Given the description of an element on the screen output the (x, y) to click on. 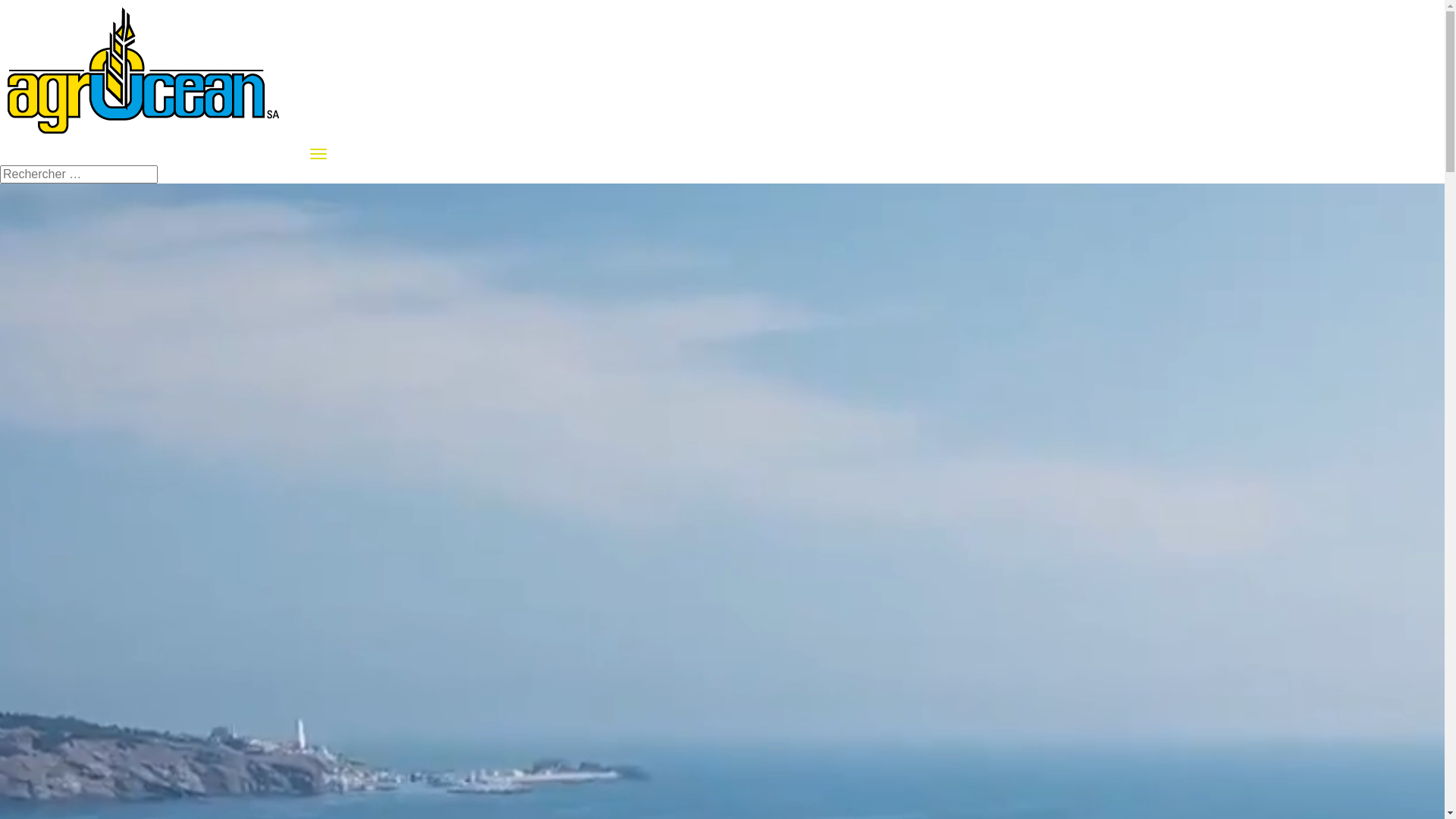
Rechercher: Element type: hover (78, 174)
